Given the description of an element on the screen output the (x, y) to click on. 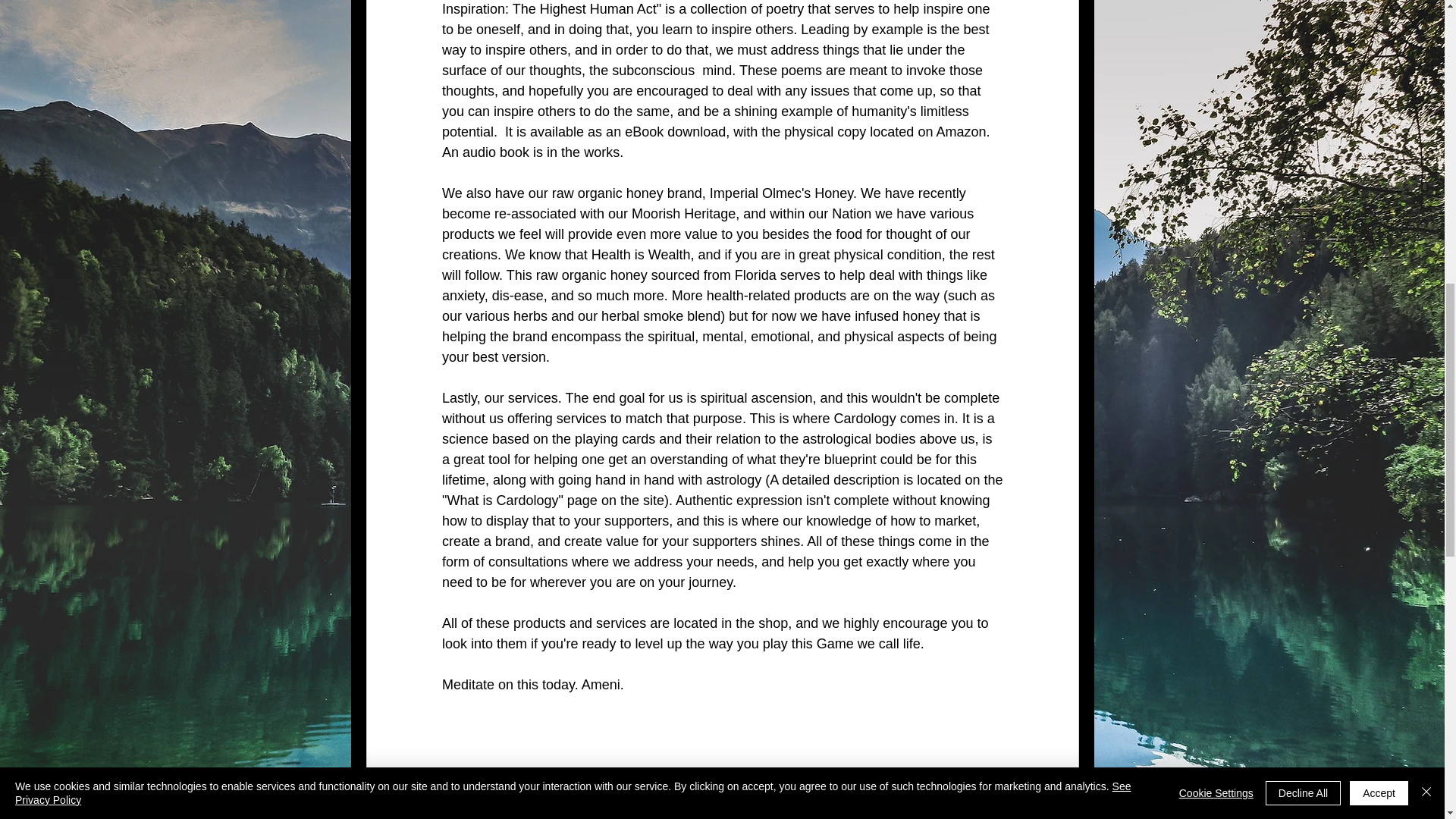
Inspiration (658, 816)
InnerStanding (952, 796)
Self-Mastery (794, 816)
Inspire (723, 816)
Self-Love (935, 816)
